Given the description of an element on the screen output the (x, y) to click on. 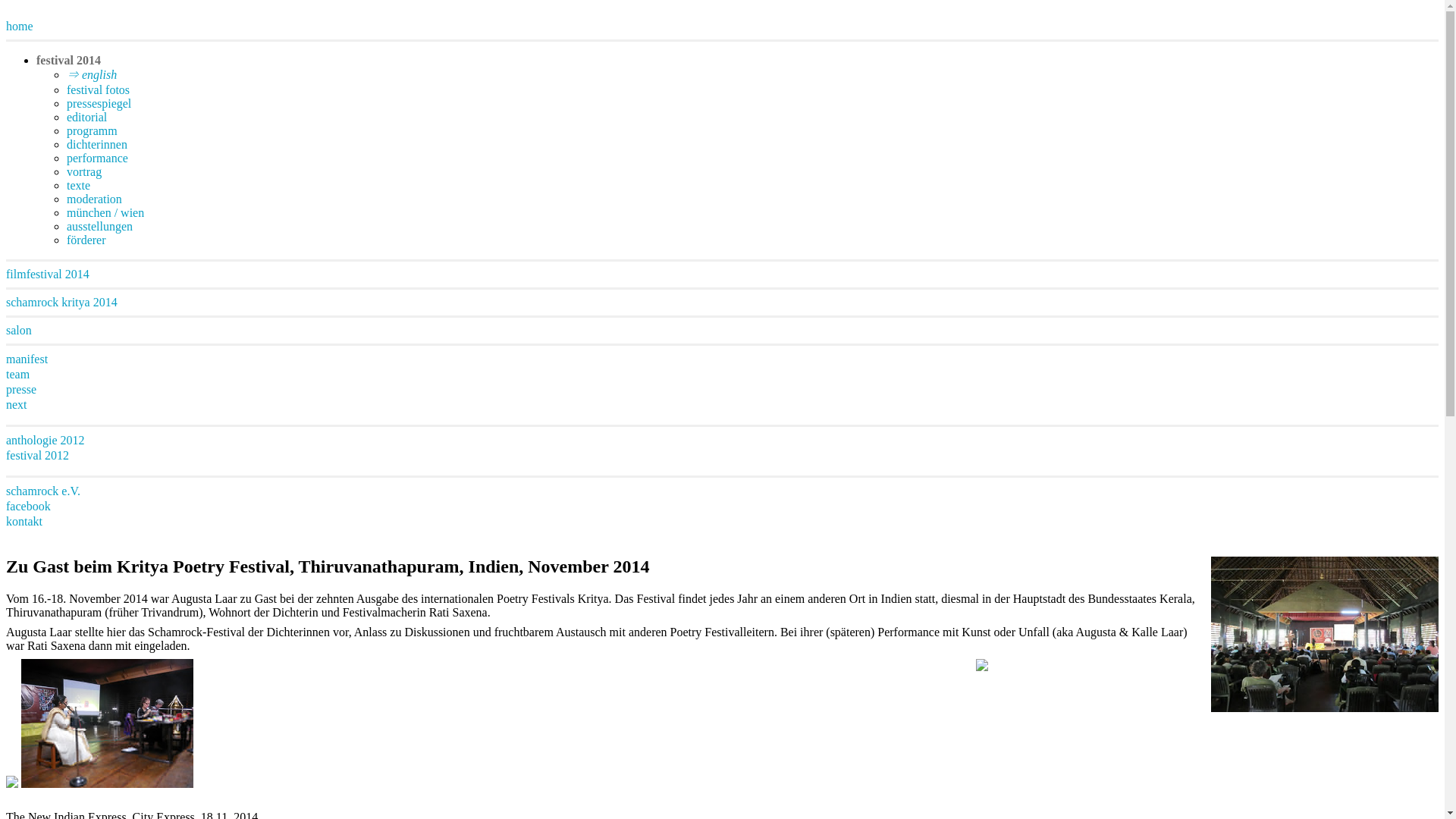
schamrock e.V. (42, 490)
anthologie 2012 (44, 440)
festival fotos (97, 89)
kontakt (23, 521)
programm (91, 130)
pressespiegel (98, 103)
festival 2012 (36, 454)
ausstellungen (99, 226)
salon (18, 329)
moderation (94, 198)
